Given the description of an element on the screen output the (x, y) to click on. 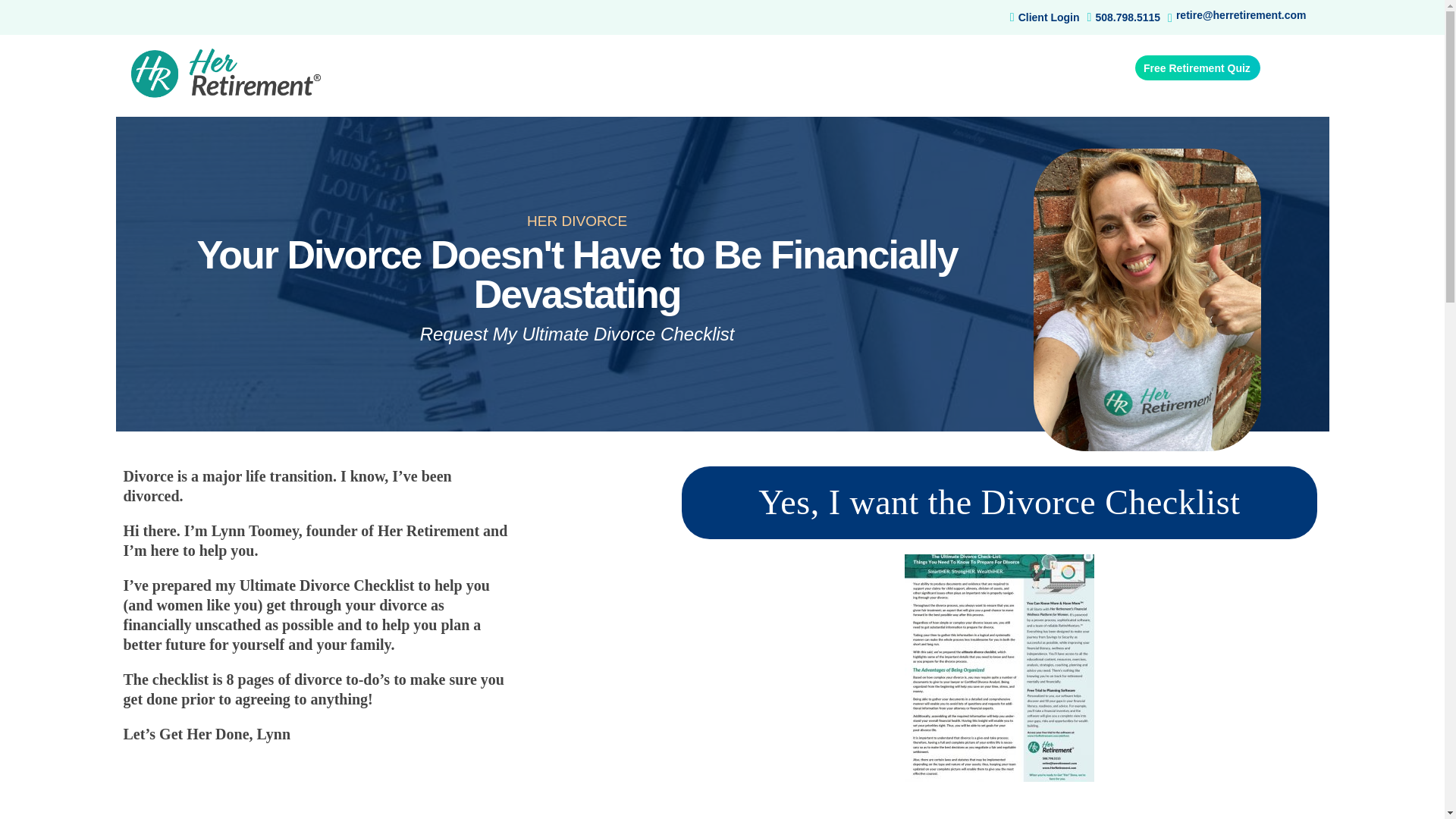
Her Retirement (225, 72)
Her Retirement (203, 111)
Client Login (1045, 17)
508.798.5115 (1123, 17)
Her Retirement (203, 111)
Free Retirement Quiz (1197, 67)
